Given the description of an element on the screen output the (x, y) to click on. 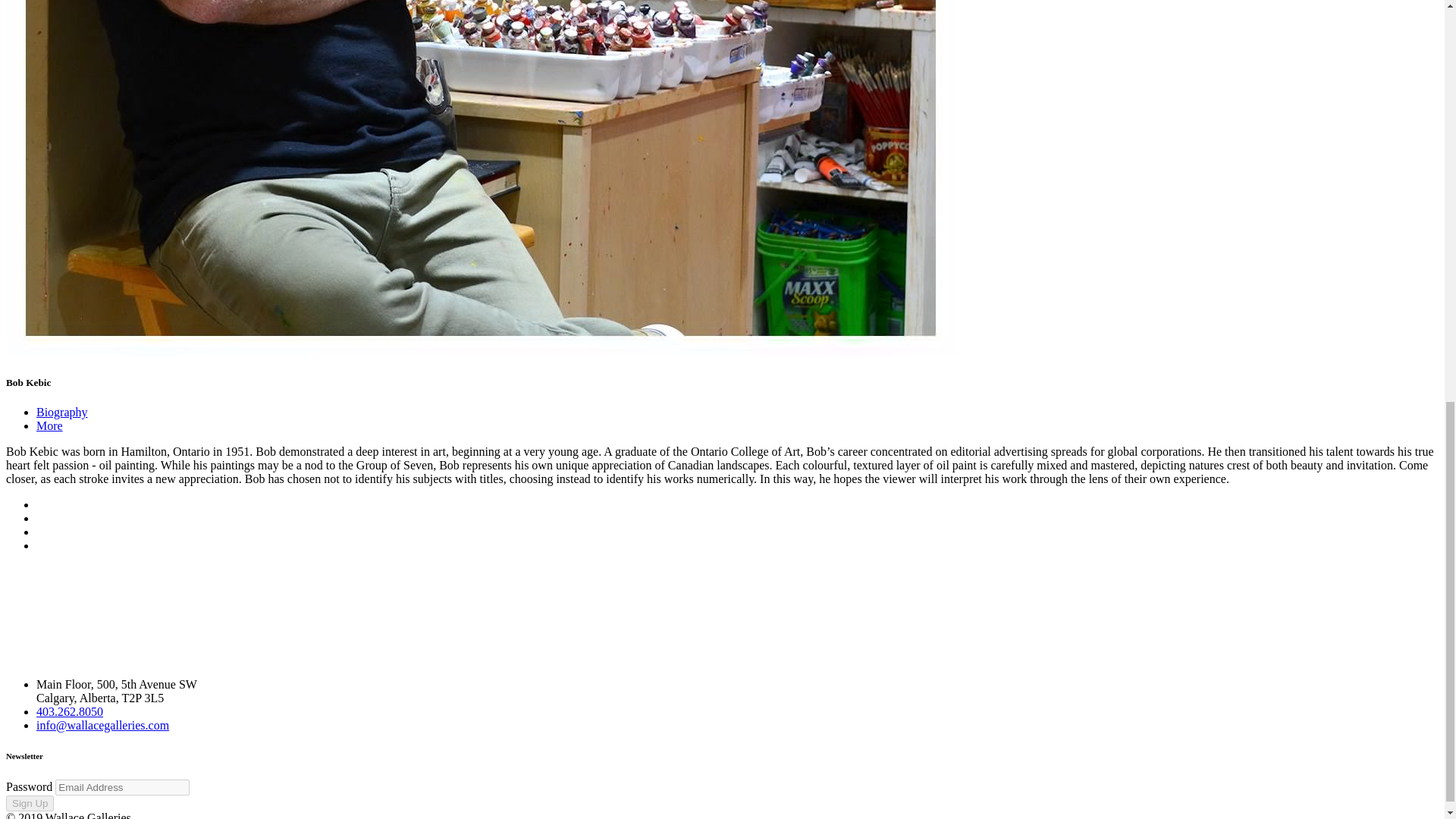
Sign Up (29, 803)
403.262.8050 (69, 711)
More (49, 425)
Biography (61, 411)
